Given the description of an element on the screen output the (x, y) to click on. 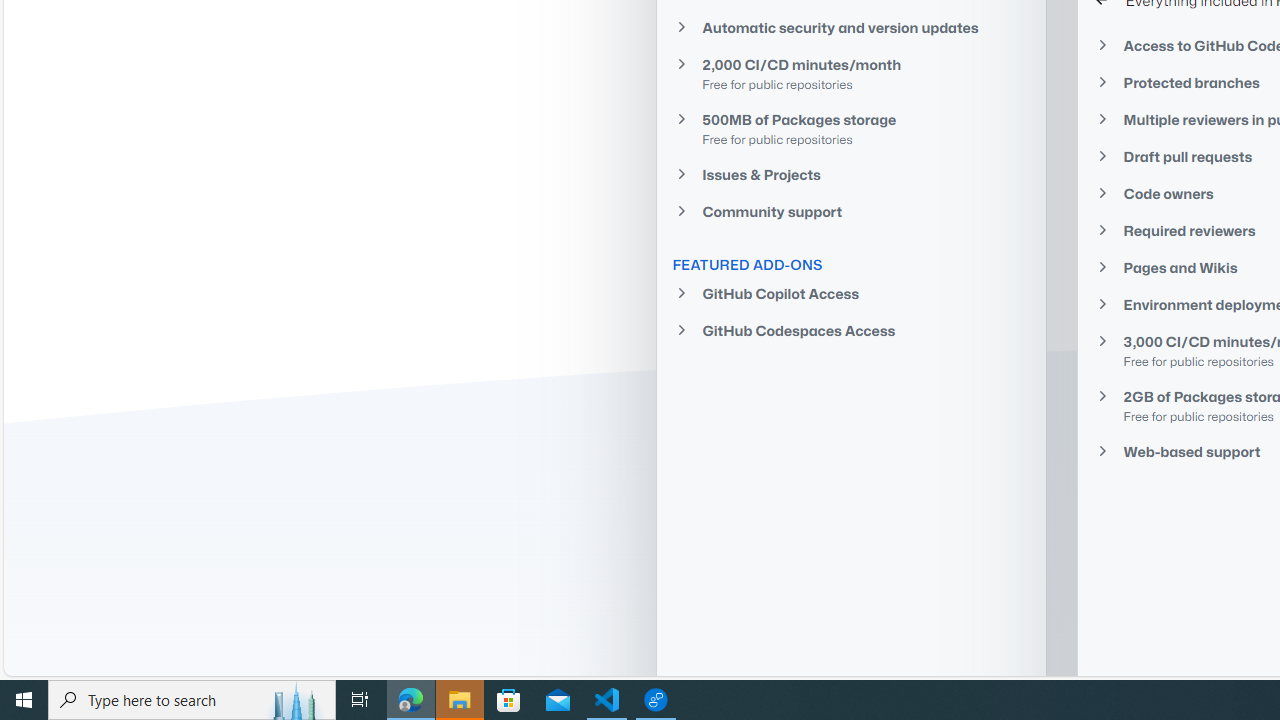
GitHub Copilot Access (851, 293)
2,000 CI/CD minutes/monthFree for public repositories (851, 73)
Issues & Projects (851, 174)
500MB of Packages storageFree for public repositories (851, 128)
Automatic security and version updates (851, 27)
500MB of Packages storage Free for public repositories (851, 128)
Issues & Projects (851, 173)
2,000 CI/CD minutes/month Free for public repositories (851, 74)
GitHub Codespaces Access (851, 330)
Community support (851, 211)
GitHub Copilot Access (851, 294)
GitHub Codespaces Access (851, 330)
Community support (851, 211)
Automatic security and version updates (851, 26)
